Given the description of an element on the screen output the (x, y) to click on. 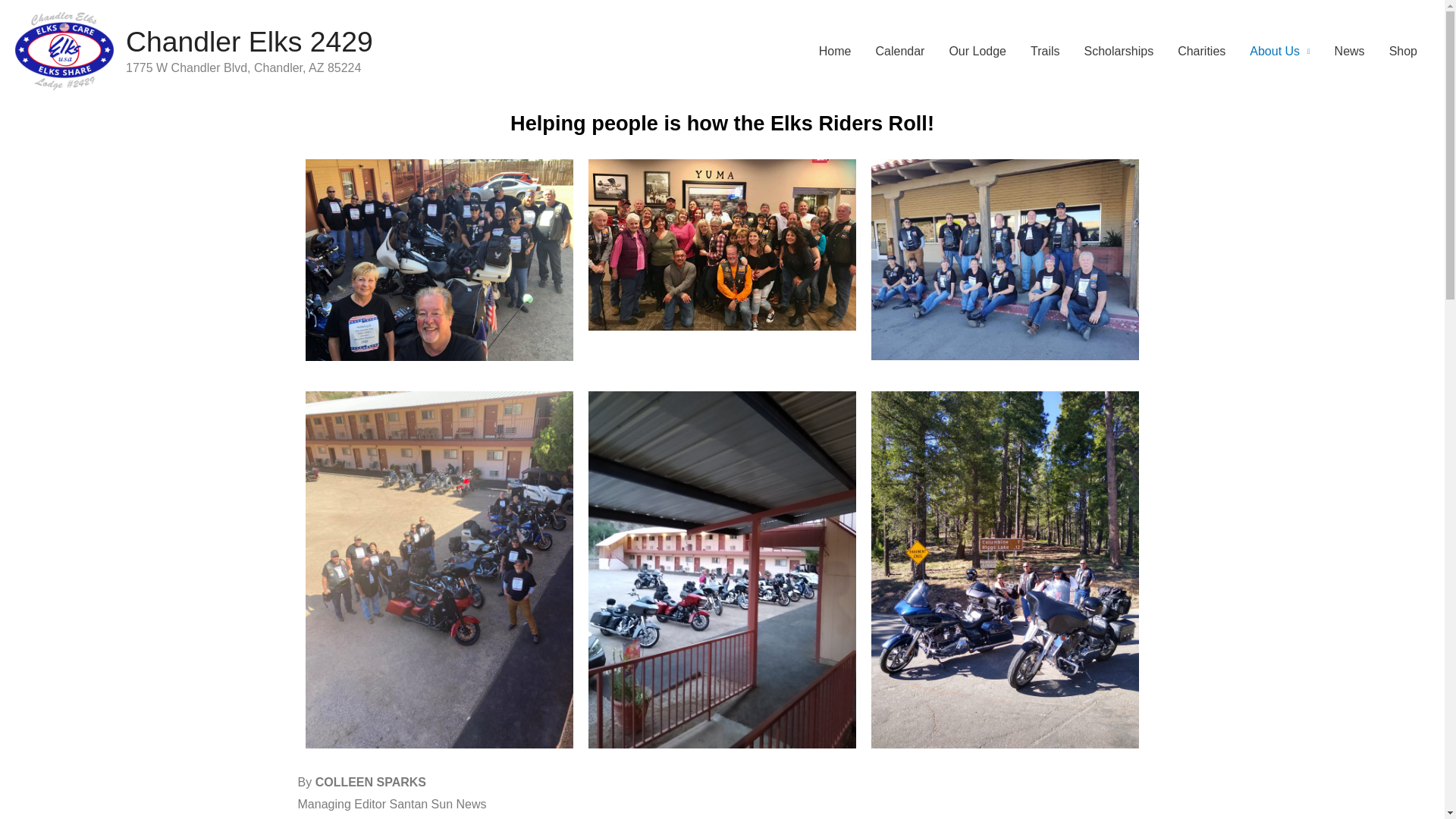
Chandler Elks 2429 (248, 41)
Scholarships (1118, 51)
